Given the description of an element on the screen output the (x, y) to click on. 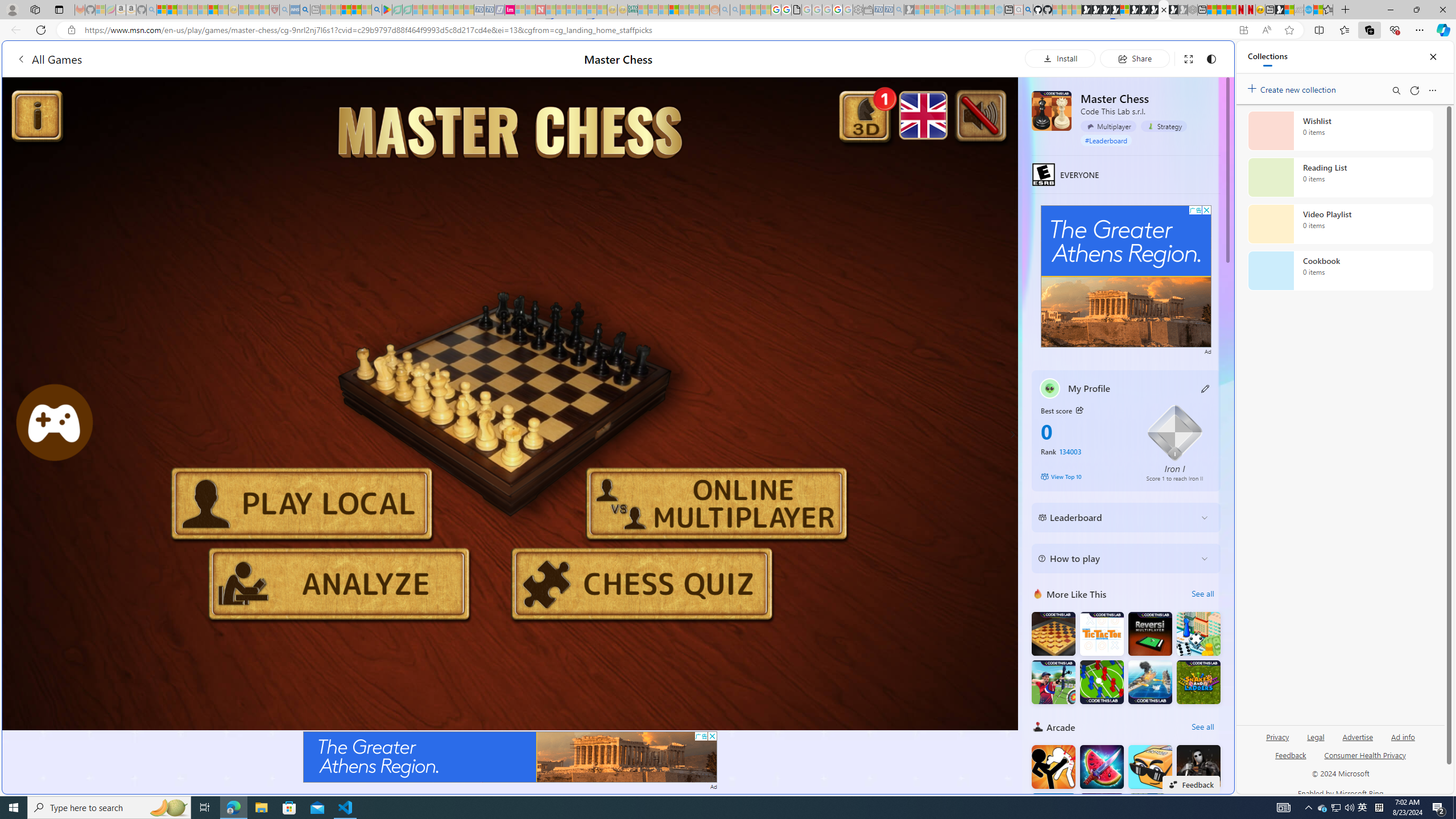
Stickman Fighter : Mega Brawl (1053, 766)
Settings - Sleeping (857, 9)
AutomationID: cbb (1206, 209)
View Top 10 (1085, 476)
Consumer Health Privacy (1364, 754)
